Given the description of an element on the screen output the (x, y) to click on. 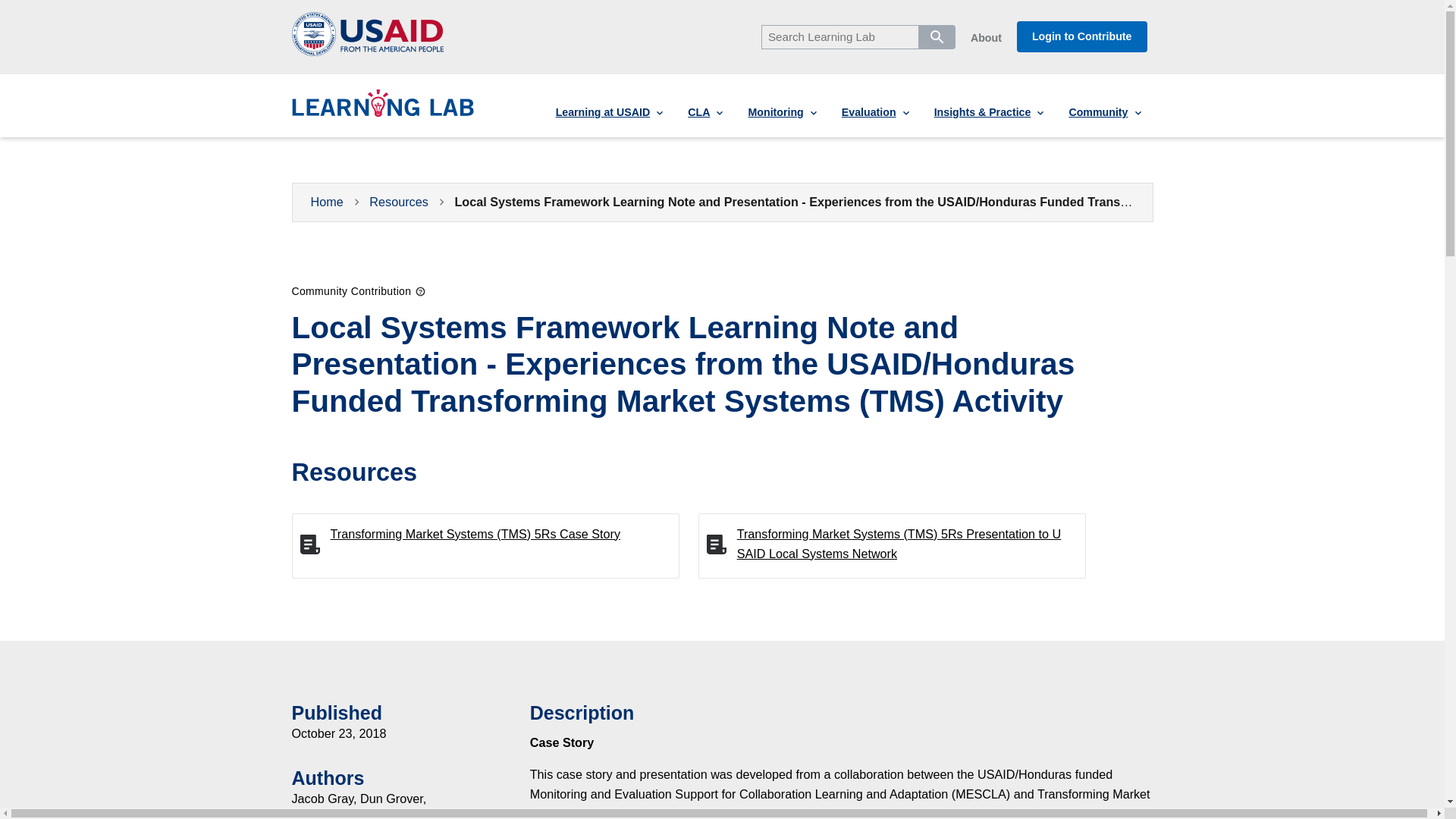
Learning at USAID (609, 112)
Home (327, 201)
Skip to main content (67, 1)
Community (1104, 112)
About Learning Lab (986, 37)
? (420, 292)
CLA (705, 112)
Resources (398, 201)
About (986, 37)
Home (382, 110)
